Given the description of an element on the screen output the (x, y) to click on. 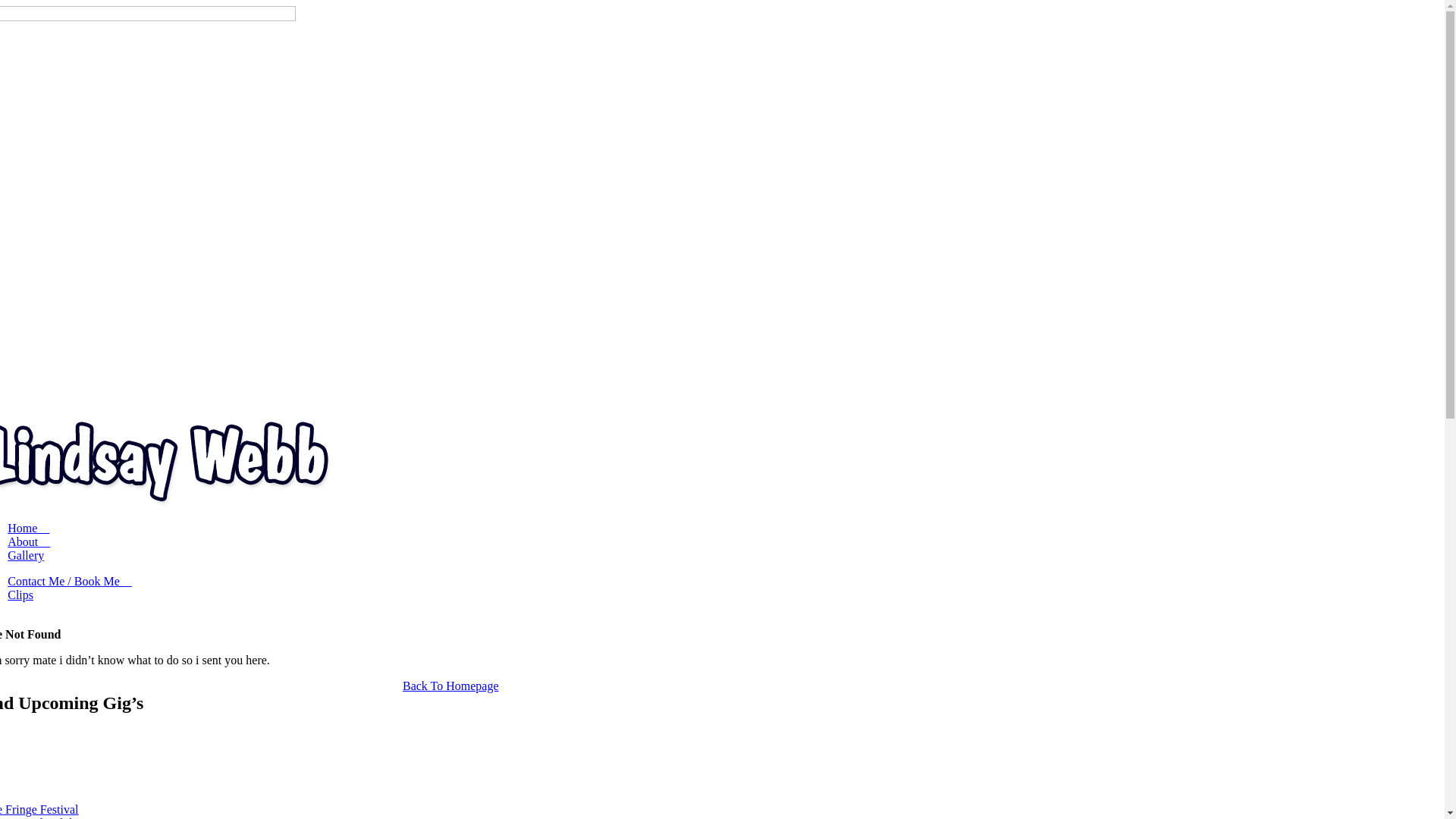
Gallery Element type: text (25, 555)
Clips Element type: text (20, 594)
Home     Element type: text (28, 527)
Back To Homepage Element type: text (450, 685)
About     Element type: text (28, 541)
Contact Me / Book Me     Element type: text (69, 580)
Skip to content Element type: text (5, 5)
